Given the description of an element on the screen output the (x, y) to click on. 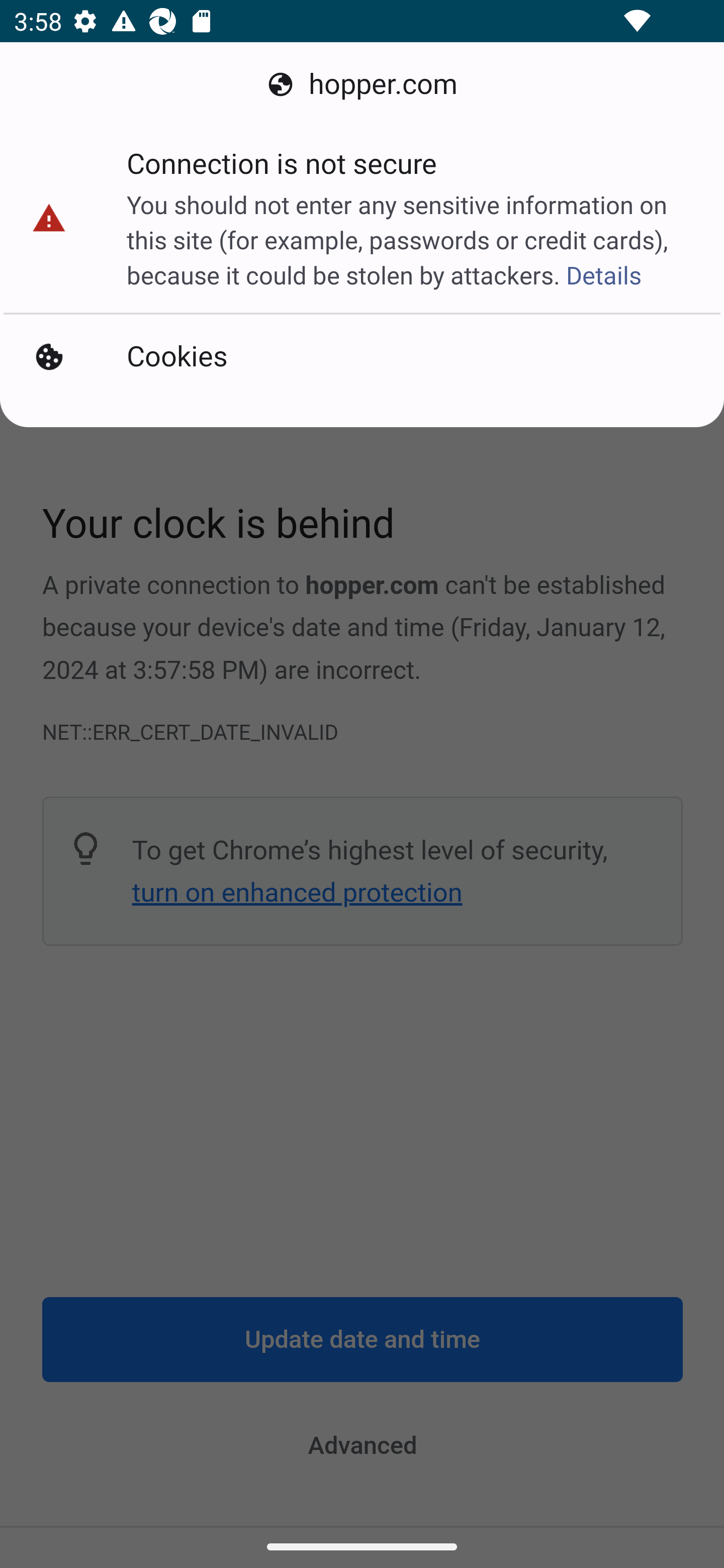
hopper.com (362, 84)
Cookies (362, 356)
